Given the description of an element on the screen output the (x, y) to click on. 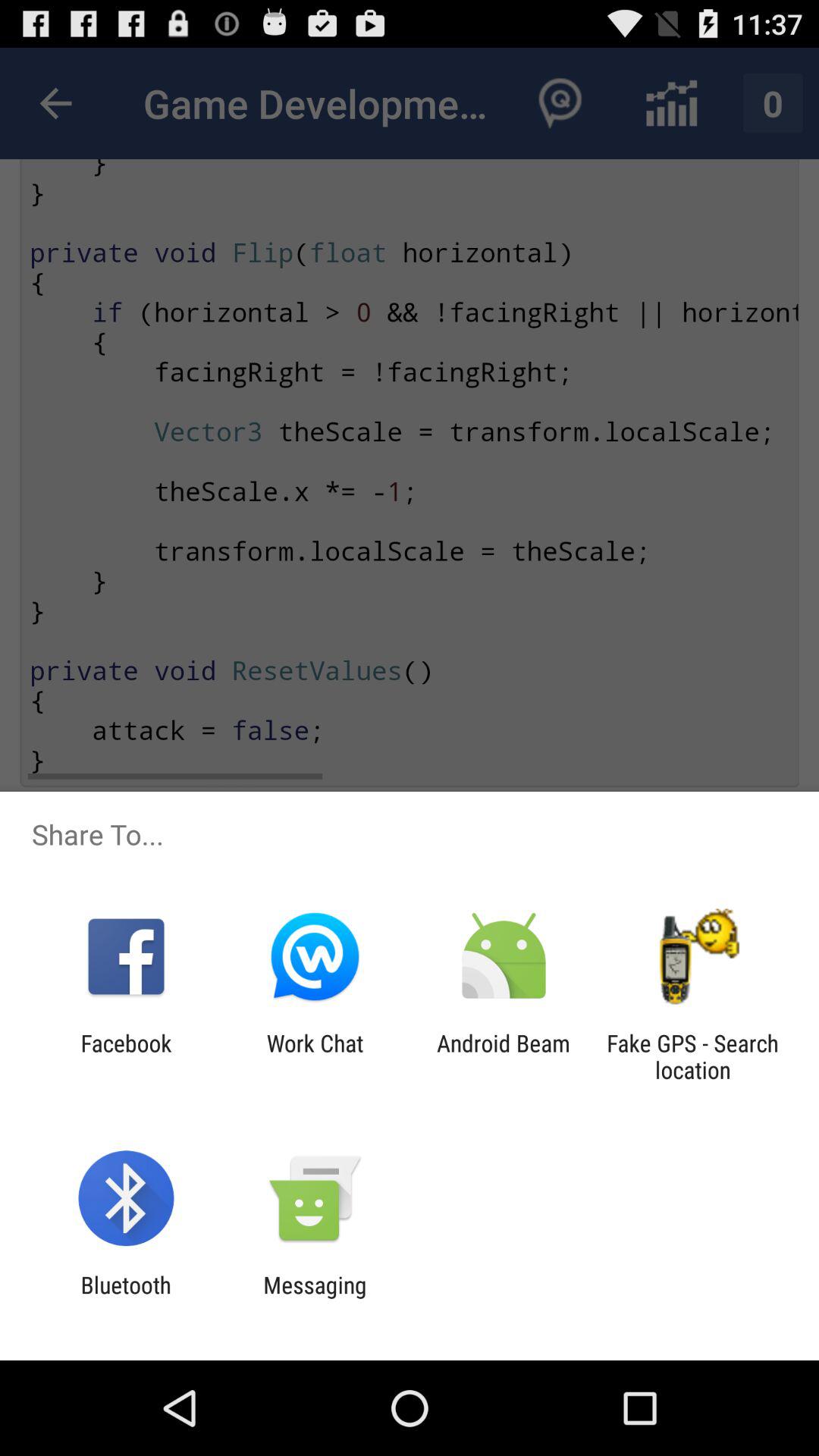
press app to the left of the work chat item (125, 1056)
